Given the description of an element on the screen output the (x, y) to click on. 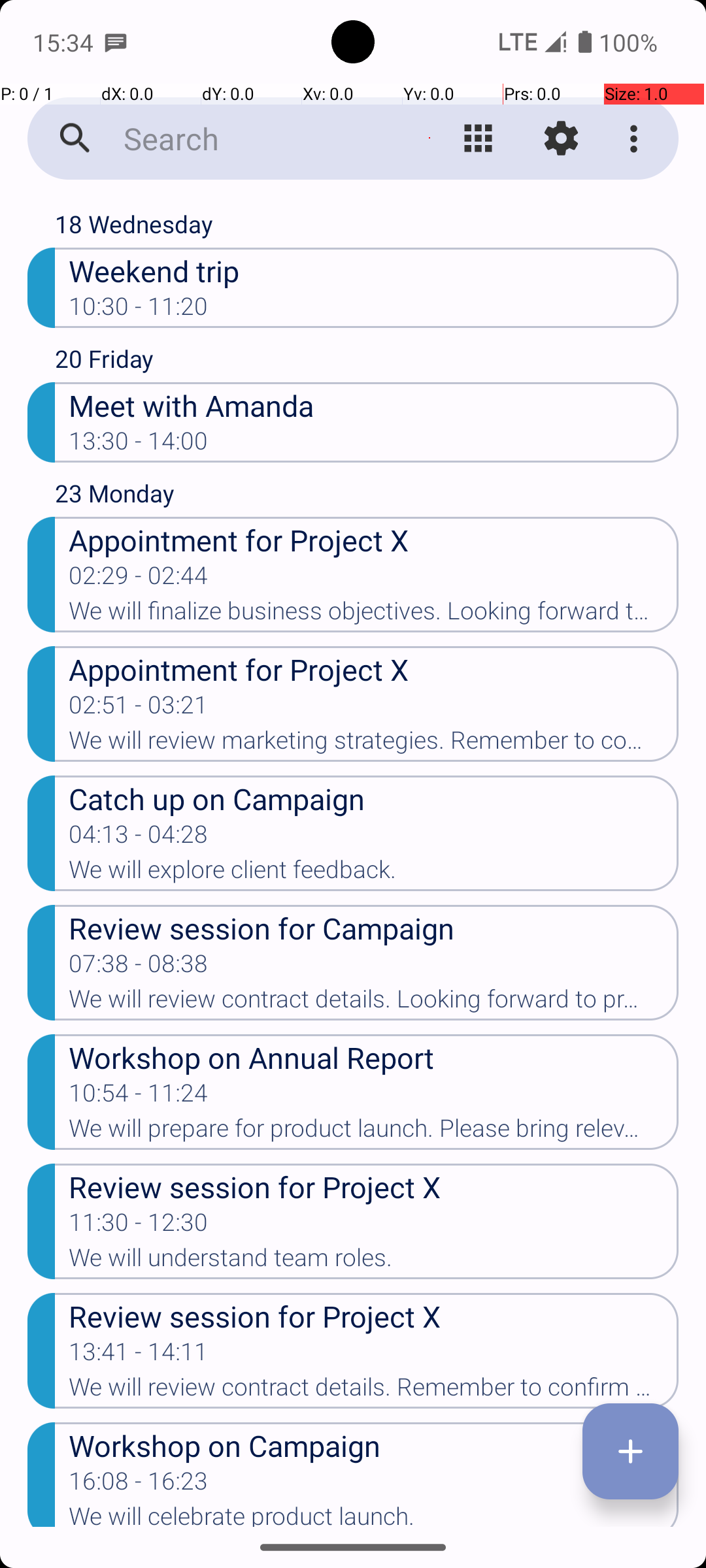
23 Monday Element type: android.widget.TextView (366, 496)
Weekend trip Element type: android.widget.TextView (373, 269)
10:30 - 11:20 Element type: android.widget.TextView (137, 309)
Meet with Amanda Element type: android.widget.TextView (373, 404)
13:30 - 14:00 Element type: android.widget.TextView (137, 444)
02:29 - 02:44 Element type: android.widget.TextView (137, 579)
We will finalize business objectives. Looking forward to productive discussions. Element type: android.widget.TextView (373, 614)
02:51 - 03:21 Element type: android.widget.TextView (137, 708)
We will review marketing strategies. Remember to confirm attendance. Element type: android.widget.TextView (373, 743)
04:13 - 04:28 Element type: android.widget.TextView (137, 837)
We will explore client feedback. Element type: android.widget.TextView (373, 873)
07:38 - 08:38 Element type: android.widget.TextView (137, 967)
We will review contract details. Looking forward to productive discussions. Element type: android.widget.TextView (373, 1002)
10:54 - 11:24 Element type: android.widget.TextView (137, 1096)
We will prepare for product launch. Please bring relevant documents. Element type: android.widget.TextView (373, 1131)
11:30 - 12:30 Element type: android.widget.TextView (137, 1225)
We will understand team roles. Element type: android.widget.TextView (373, 1261)
13:41 - 14:11 Element type: android.widget.TextView (137, 1355)
We will review contract details. Remember to confirm attendance. Element type: android.widget.TextView (373, 1390)
16:08 - 16:23 Element type: android.widget.TextView (137, 1484)
We will celebrate product launch. Element type: android.widget.TextView (373, 1514)
